Given the description of an element on the screen output the (x, y) to click on. 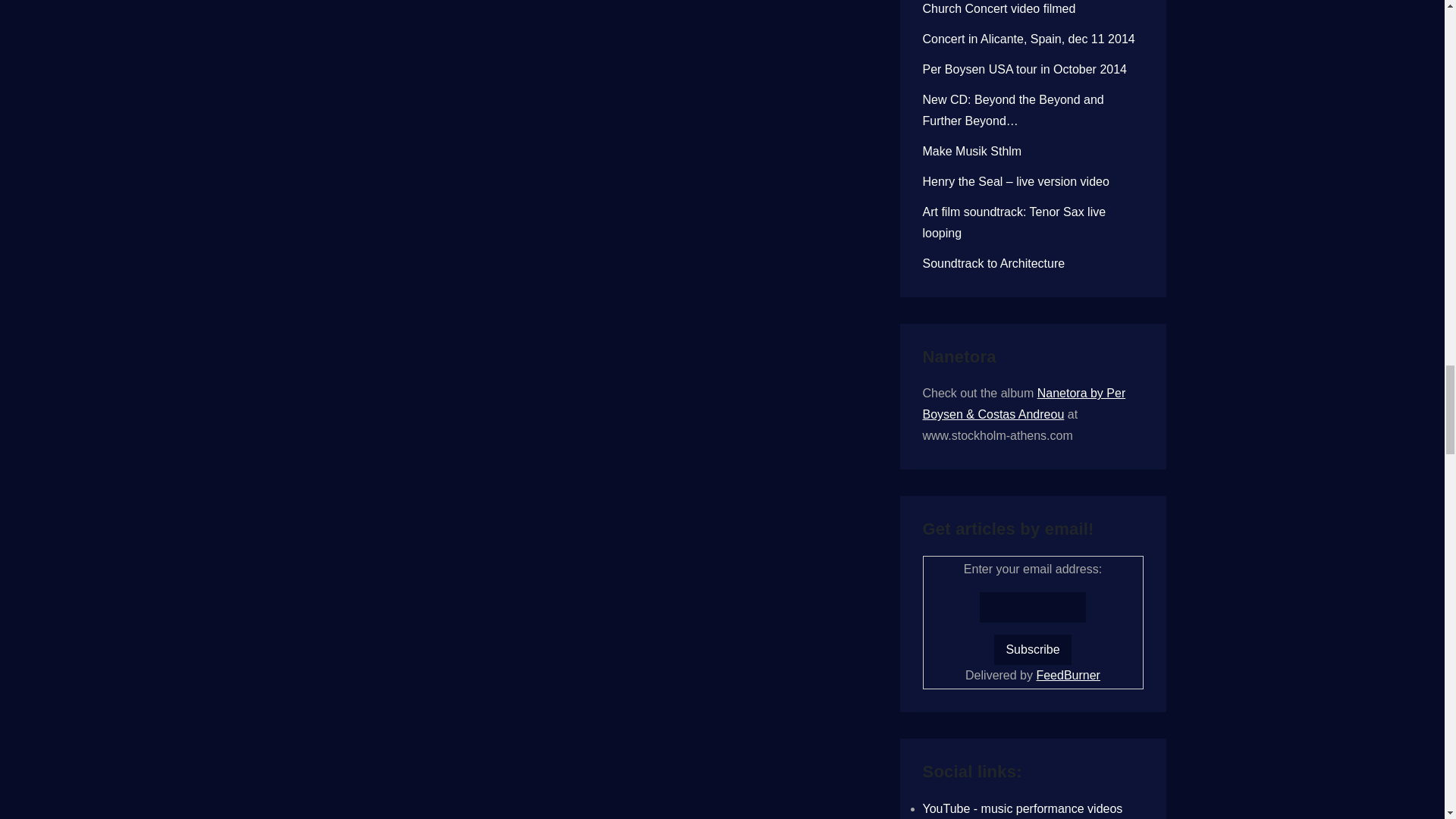
Subscribe (1032, 649)
Make Musik Sthlm (971, 151)
Concert in Alicante, Spain, dec 11 2014 (1027, 38)
Soundtrack to Architecture (992, 263)
Subscribe (1032, 649)
Church Concert video filmed (998, 8)
Per Boysen USA tour in October 2014 (1023, 69)
Art film soundtrack: Tenor Sax live looping (1013, 222)
